Given the description of an element on the screen output the (x, y) to click on. 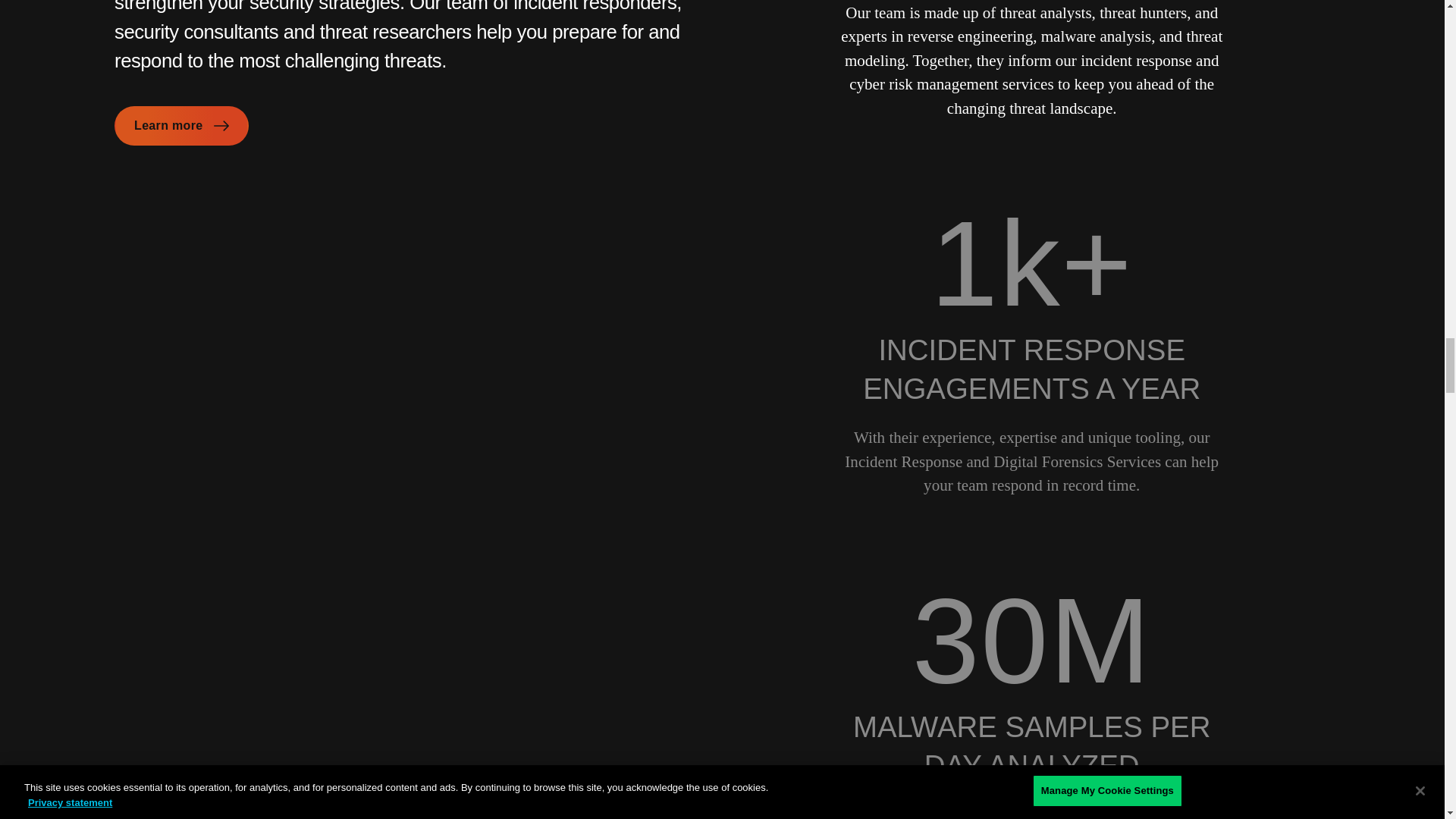
INCIDENT RESPONSE ENGAGEMENTS A YEAR (1031, 368)
MALWARE SAMPLES PER DAY ANALYZED (1031, 745)
